Given the description of an element on the screen output the (x, y) to click on. 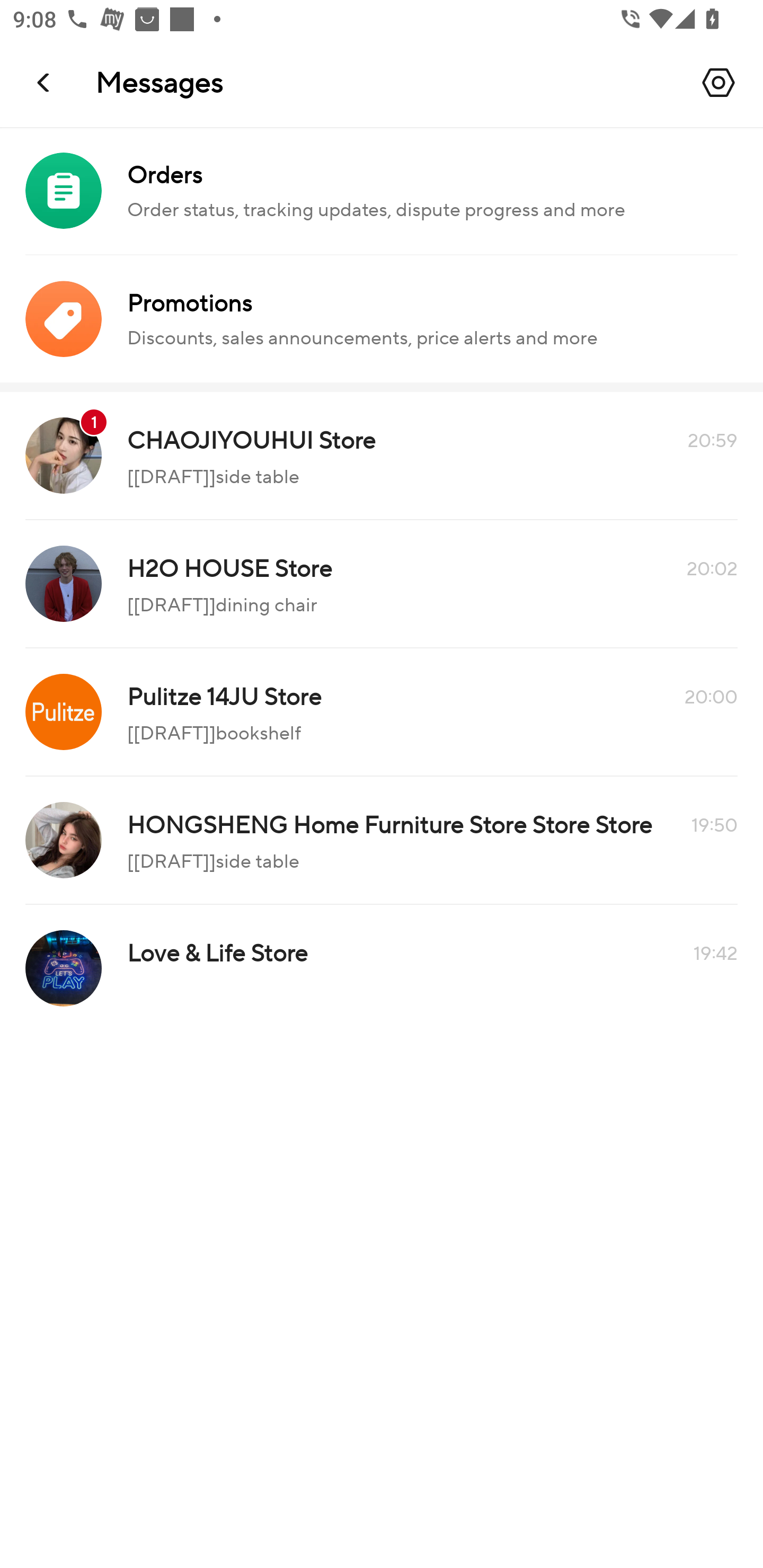
Navigate up (44, 82)
